Given the description of an element on the screen output the (x, y) to click on. 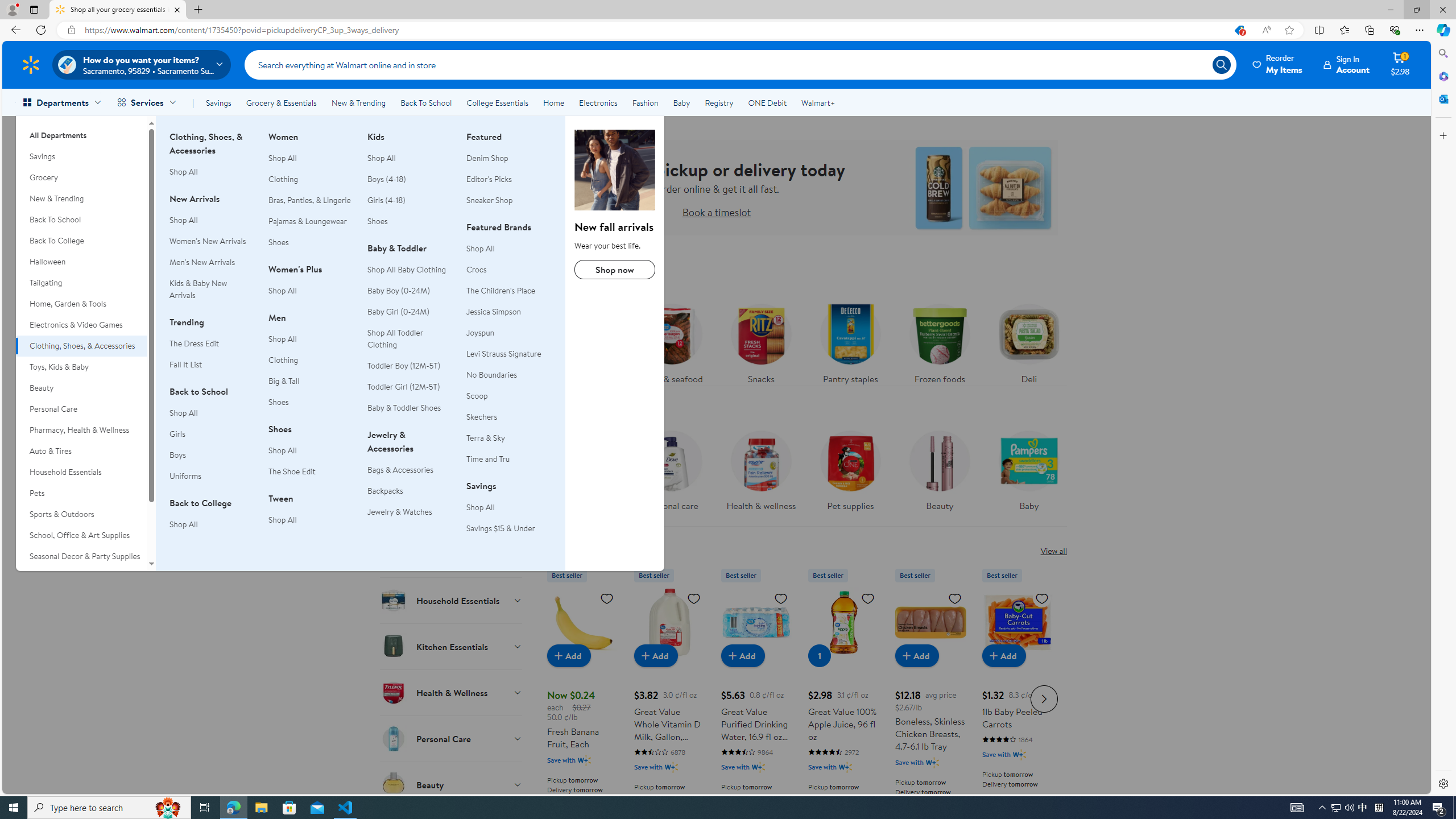
School, Office & Art Supplies (81, 535)
Savings (81, 156)
Men's New Arrivals (201, 261)
Personal Care (451, 738)
Kids & Baby New Arrivals (211, 289)
Household Essentials (81, 472)
SavingsShop AllSavings $15 & Under (508, 513)
Fall It List (185, 364)
